Given the description of an element on the screen output the (x, y) to click on. 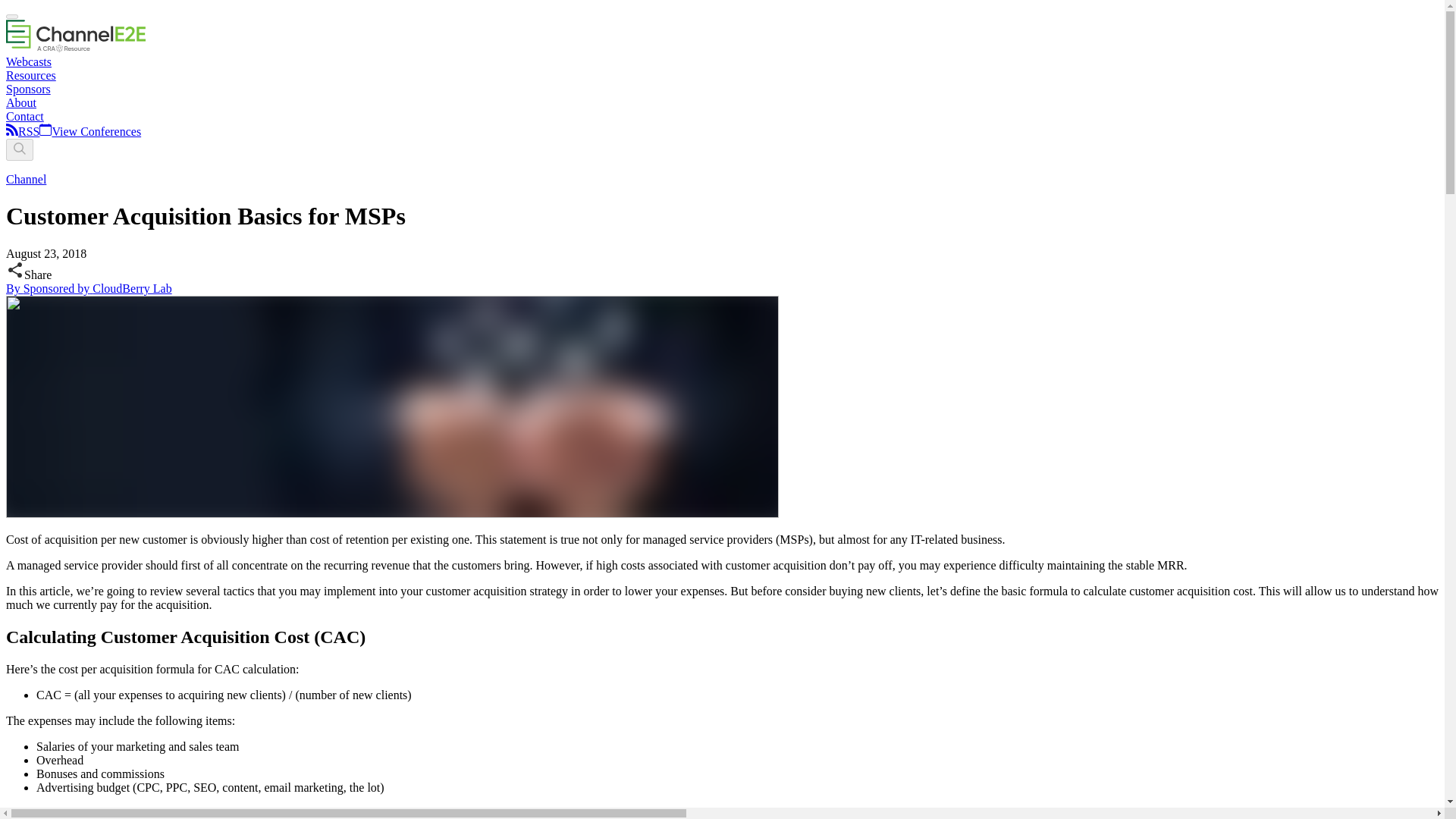
Resources (30, 74)
About (20, 102)
View Cybersecurity Conference Calendar (90, 131)
ChannelE2E (75, 47)
RSS (28, 131)
Contact (24, 115)
Channel (25, 178)
Webcasts (27, 61)
View Conferences (90, 131)
By Sponsored by CloudBerry Lab (88, 287)
